Given the description of an element on the screen output the (x, y) to click on. 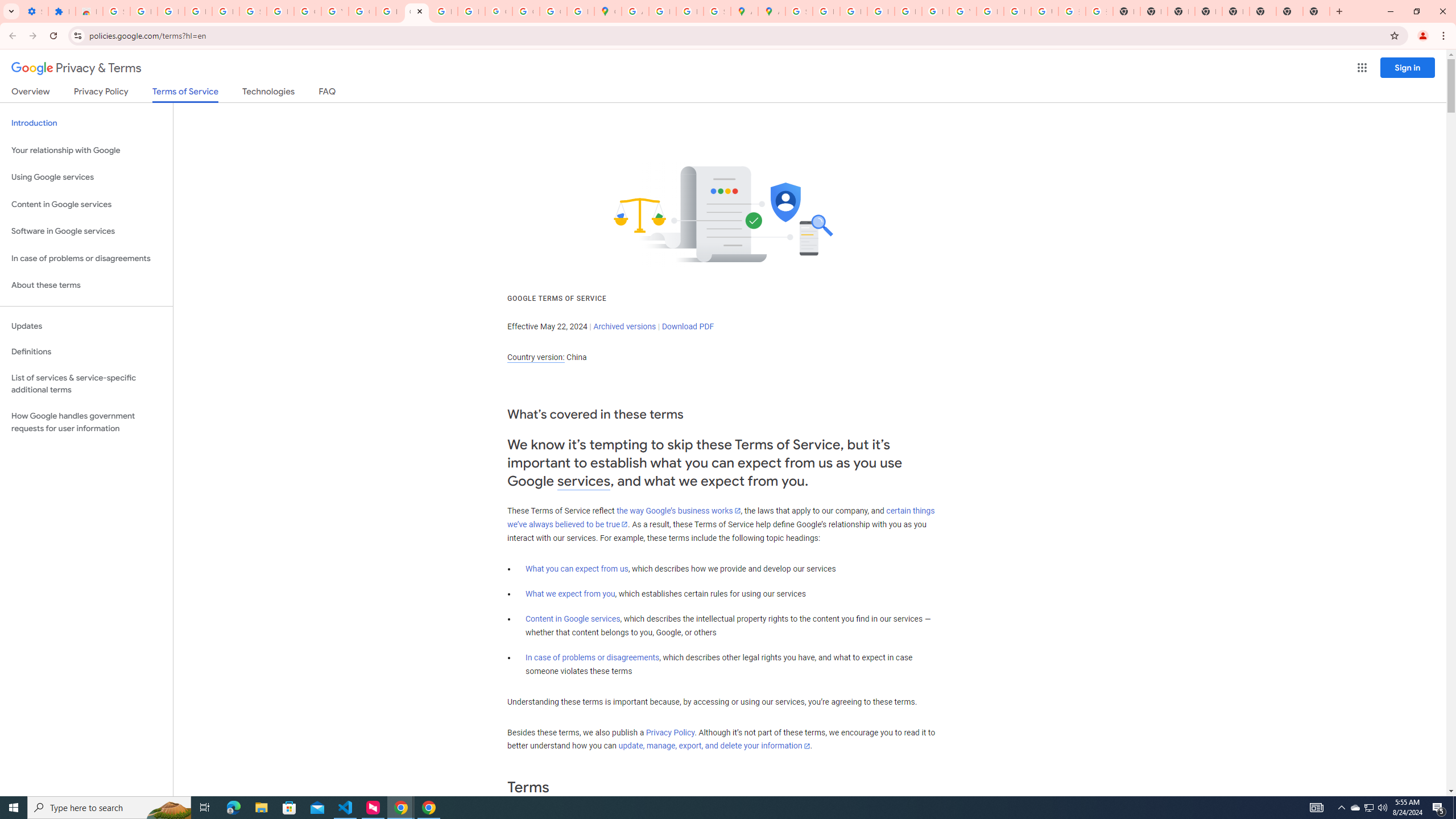
services (583, 480)
Country version: (535, 357)
https://scholar.google.com/ (389, 11)
Reviews: Helix Fruit Jump Arcade Game (88, 11)
Download PDF (687, 326)
Sign in - Google Accounts (253, 11)
What you can expect from us (576, 568)
